Given the description of an element on the screen output the (x, y) to click on. 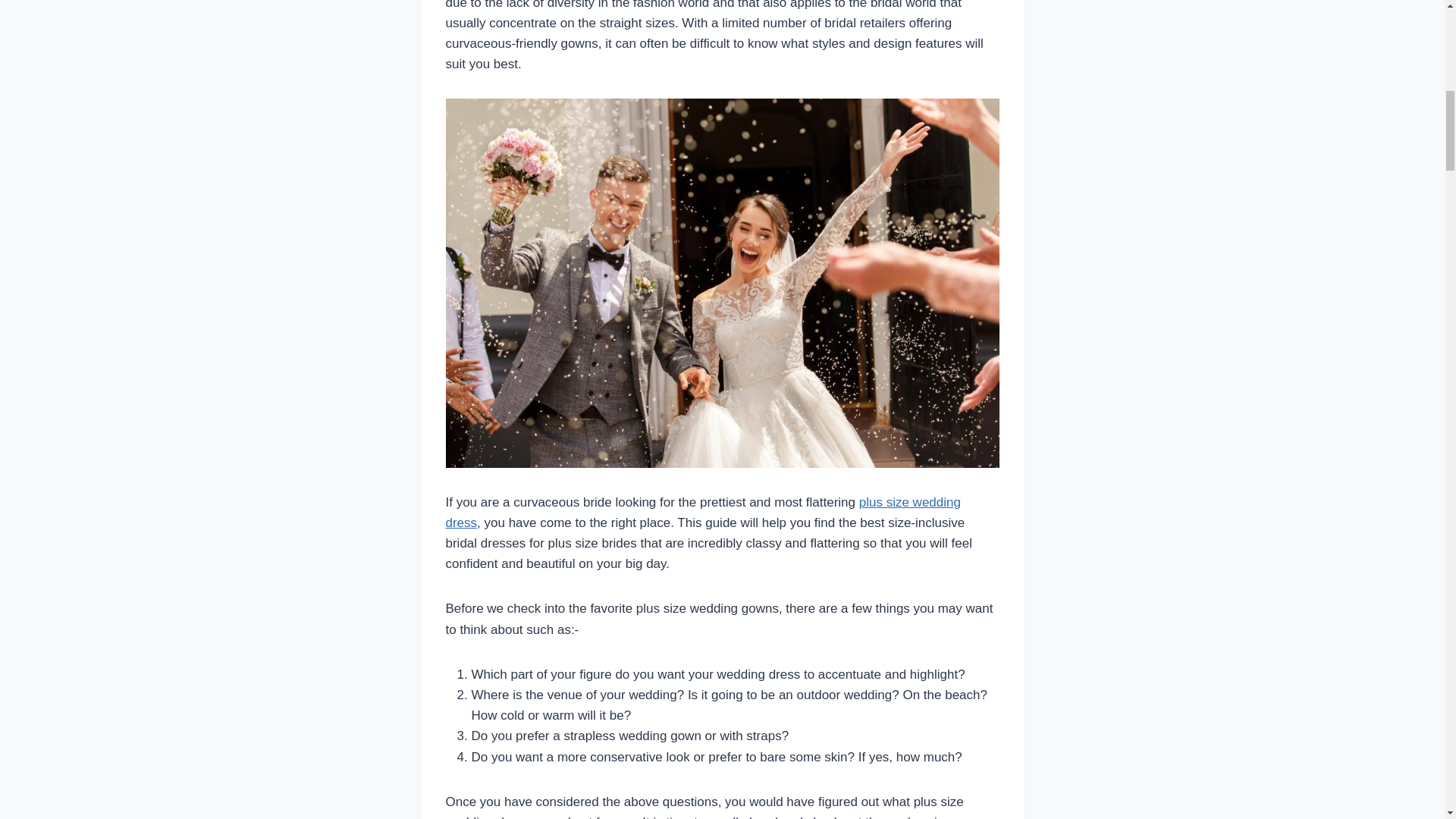
plus size wedding dress (702, 512)
